Given the description of an element on the screen output the (x, y) to click on. 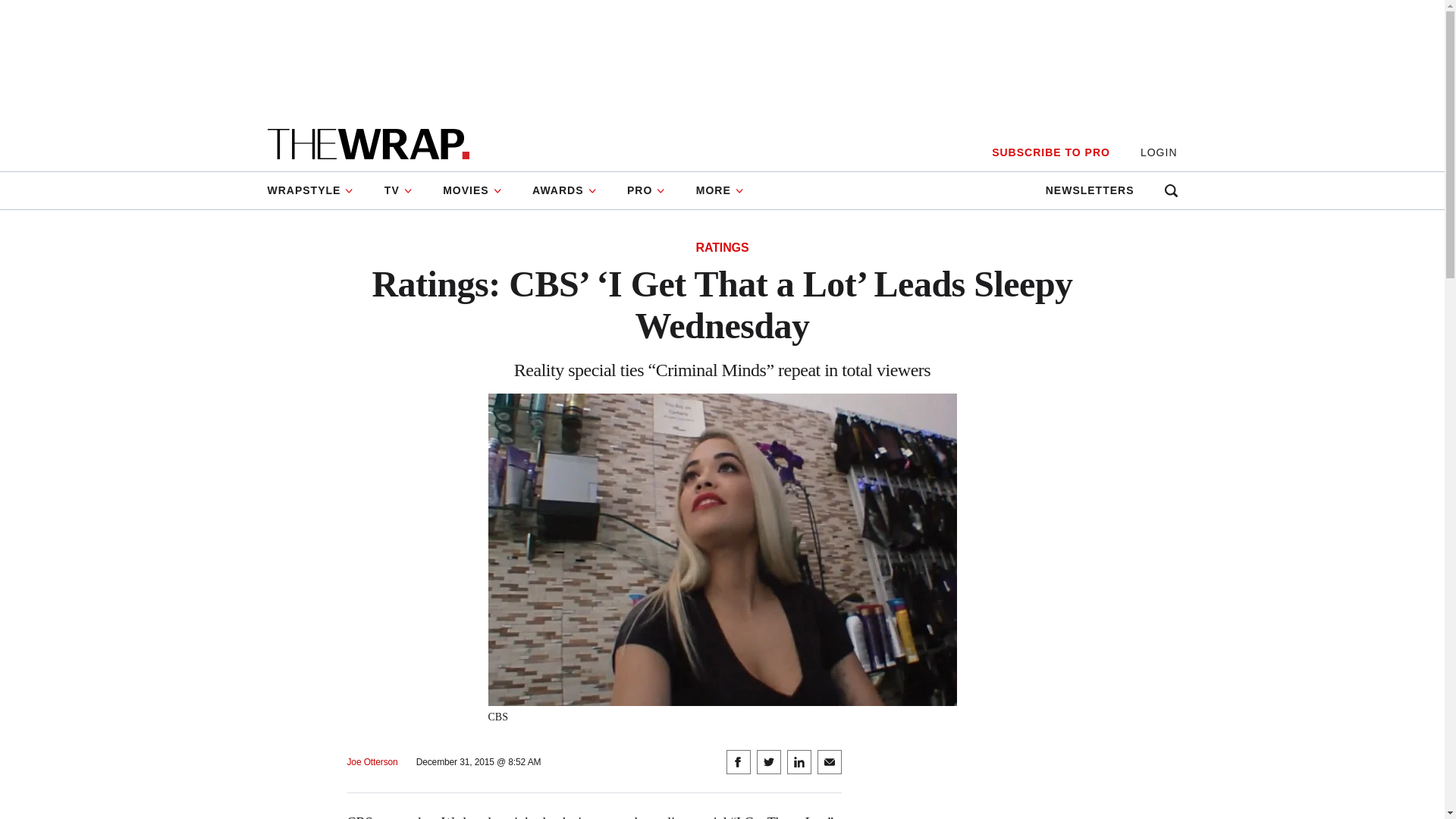
AWARDS (563, 190)
LOGIN (1158, 152)
MORE (719, 190)
PRO (646, 190)
MOVIES (472, 190)
Posts by Joe Otterson (372, 762)
TV (398, 190)
WRAPSTYLE (317, 190)
SUBSCRIBE TO PRO (1050, 152)
